Given the description of an element on the screen output the (x, y) to click on. 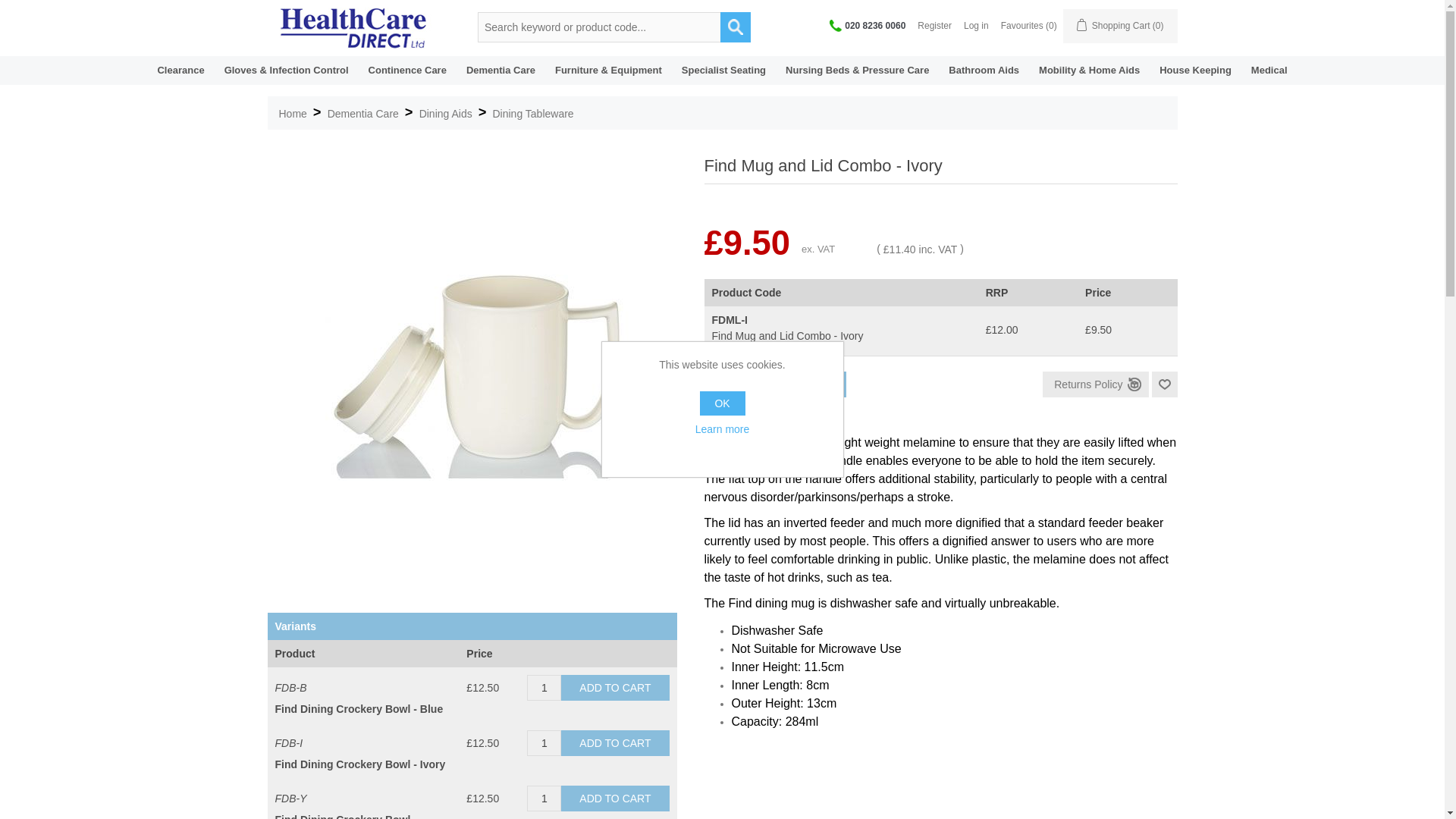
Continence Care (407, 69)
1 (720, 384)
1 (543, 742)
Picture of Find Mug and Lid Combo - Ivory (475, 364)
ADVANCED SEARCH (735, 27)
020 8236 0060 (867, 25)
1 (543, 687)
Clearance (180, 69)
Register (934, 26)
1 (543, 798)
